Given the description of an element on the screen output the (x, y) to click on. 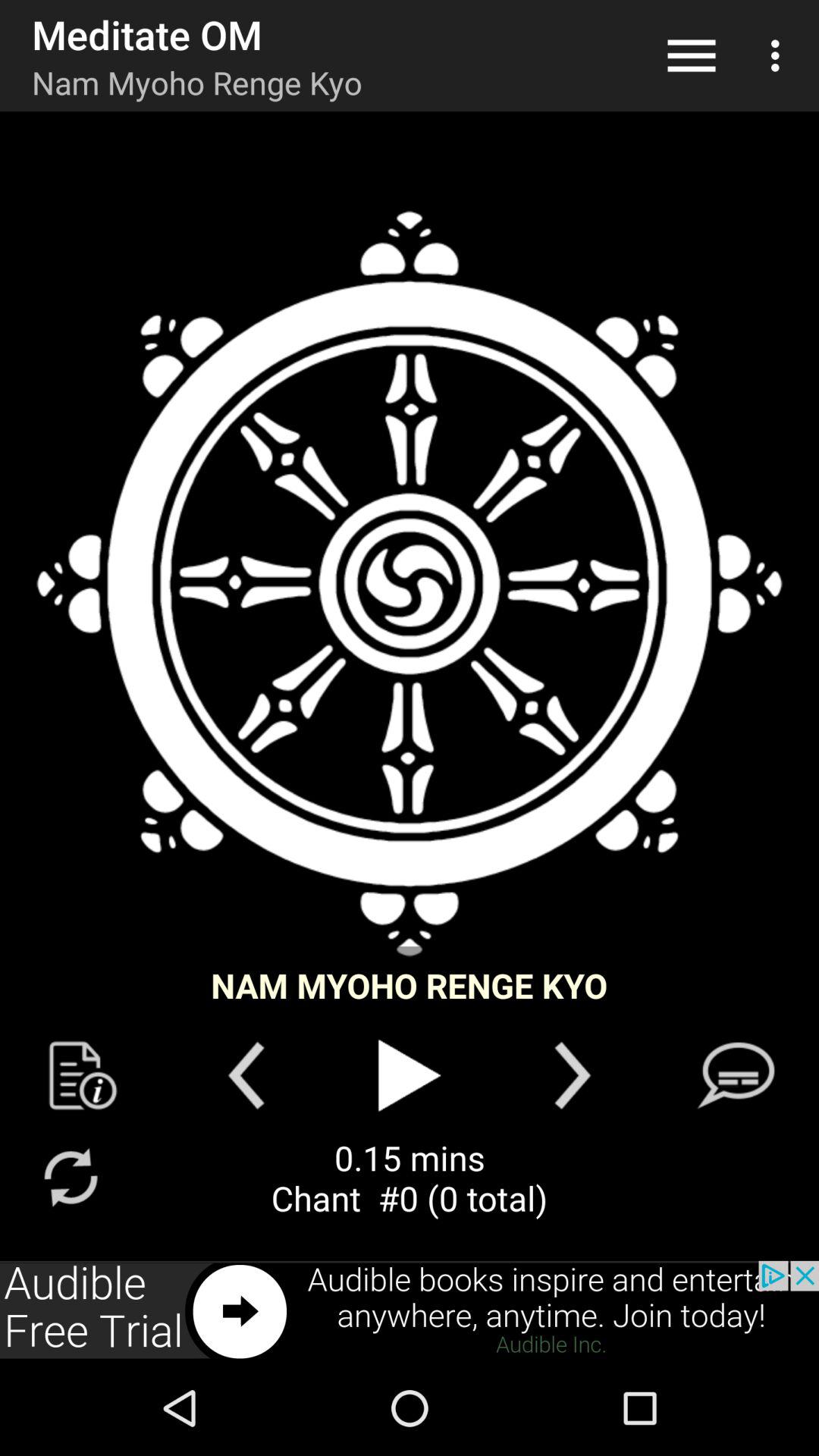
setting page (82, 1075)
